Given the description of an element on the screen output the (x, y) to click on. 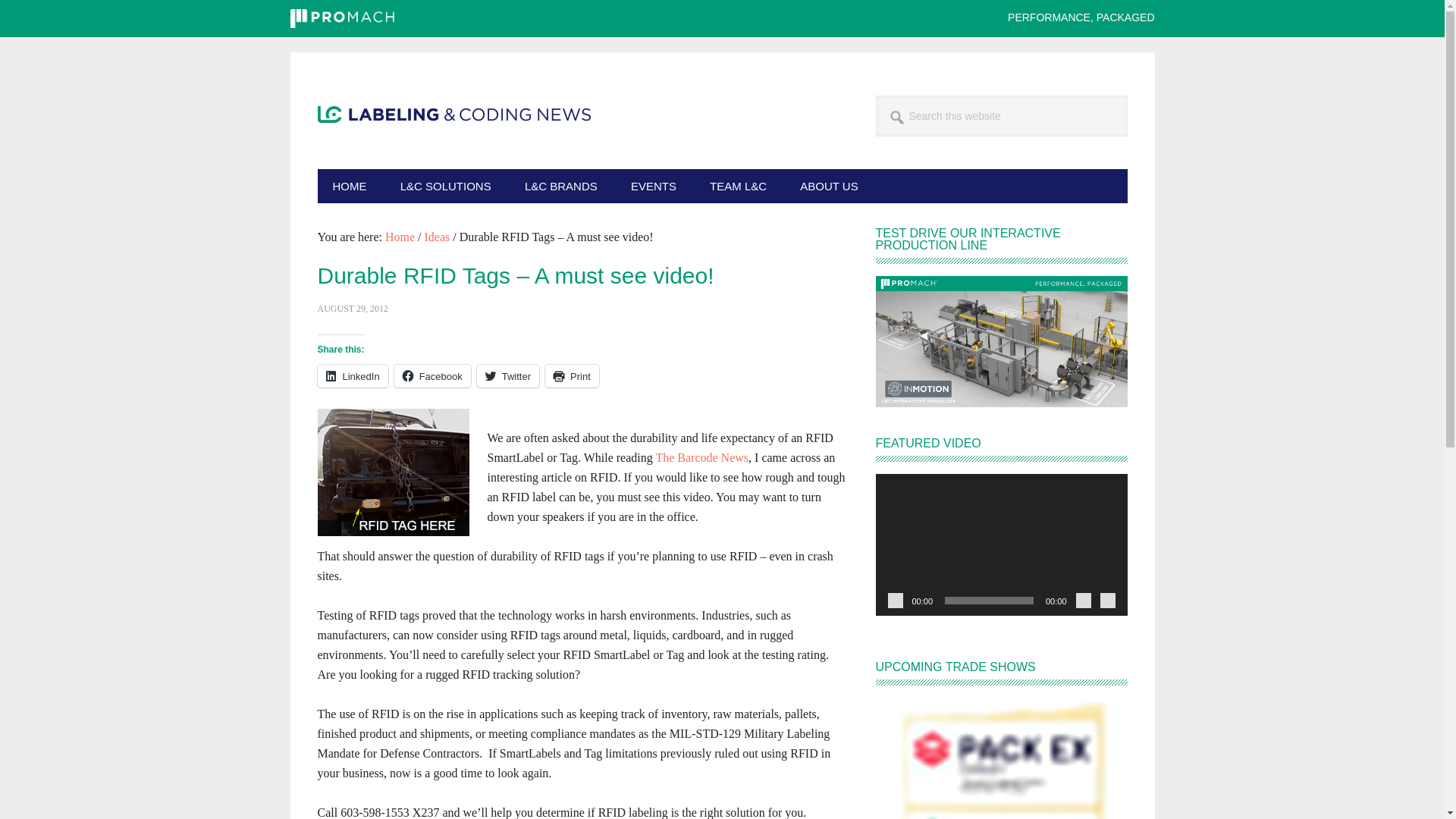
Play (894, 600)
Mute (1082, 600)
Fullscreen (1107, 600)
Labeling News (453, 234)
Facebook (432, 374)
Durable RFID (392, 471)
The Barcode News (701, 456)
Click to share on Facebook (432, 374)
Print (571, 374)
Click to print (571, 374)
Home (399, 236)
LinkedIn (352, 374)
Ideas (437, 236)
ABOUT US (828, 185)
